Given the description of an element on the screen output the (x, y) to click on. 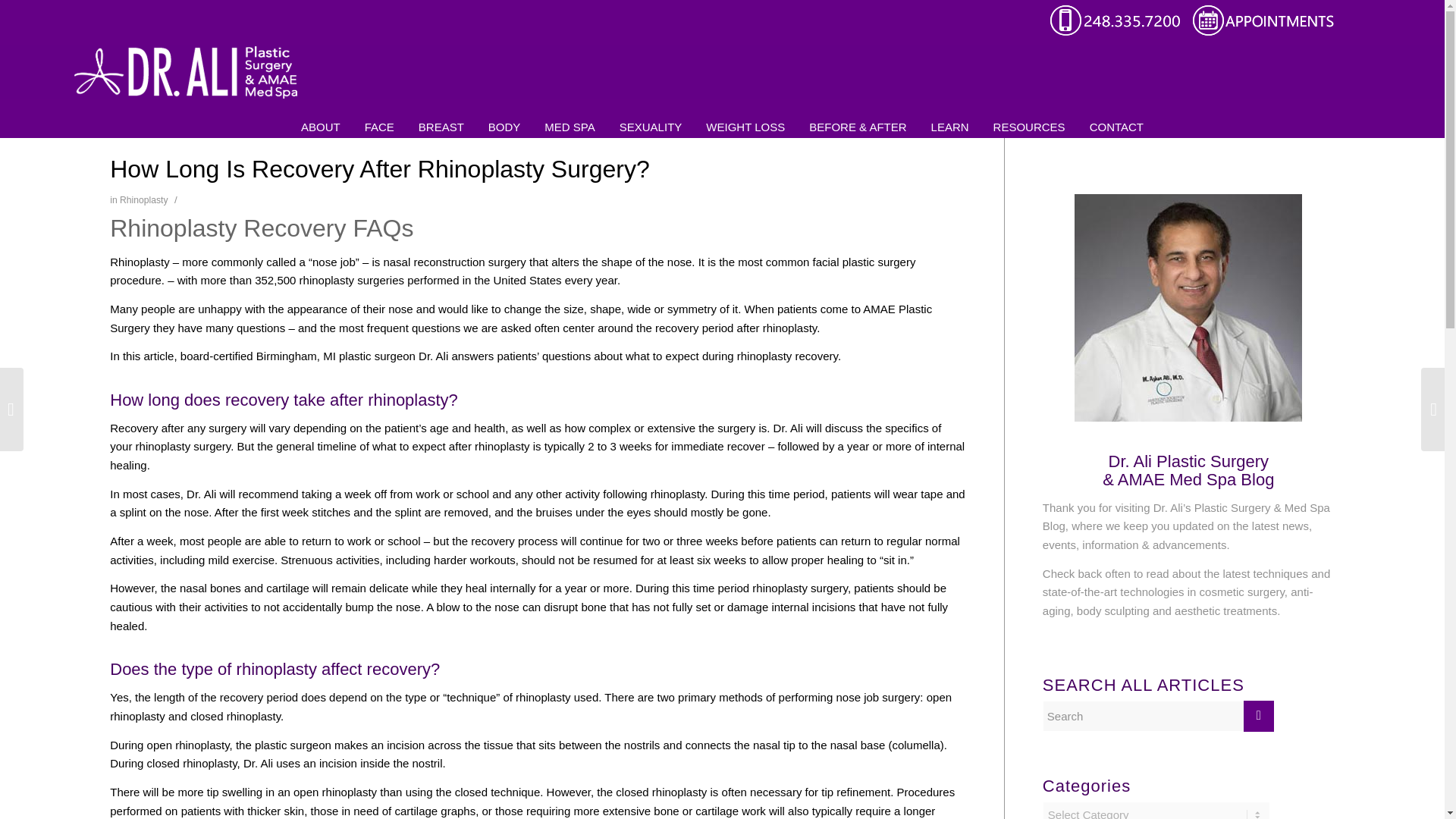
ABOUT (320, 118)
Click to Call (1120, 32)
BREAST (441, 118)
BODY (504, 118)
Click for Contact Form (1263, 32)
FACE (379, 118)
